Given the description of an element on the screen output the (x, y) to click on. 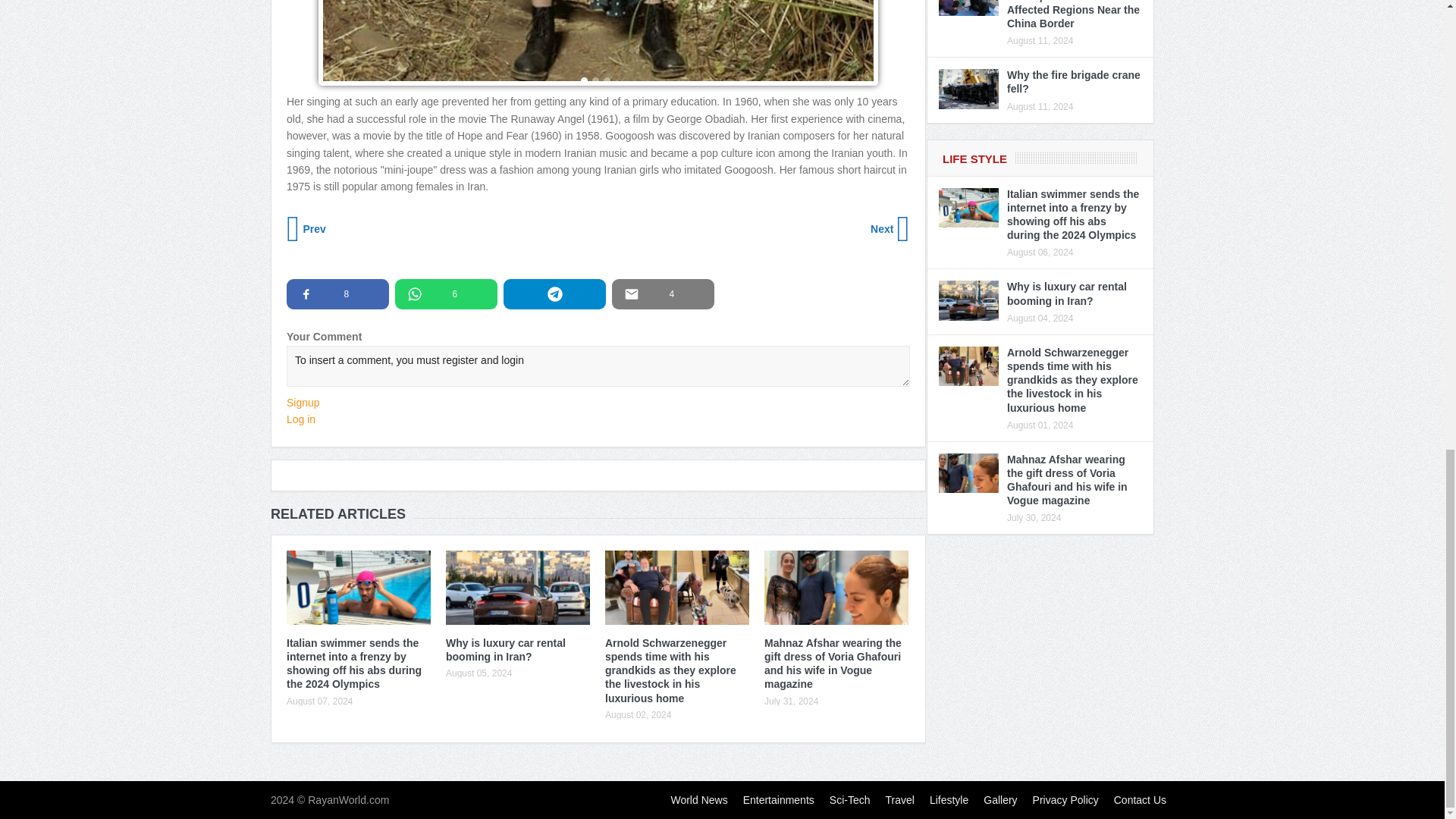
Next (888, 228)
Prev (307, 228)
Signup (303, 402)
Why is luxury car rental booming in Iran? (505, 649)
Log in (300, 419)
